Given the description of an element on the screen output the (x, y) to click on. 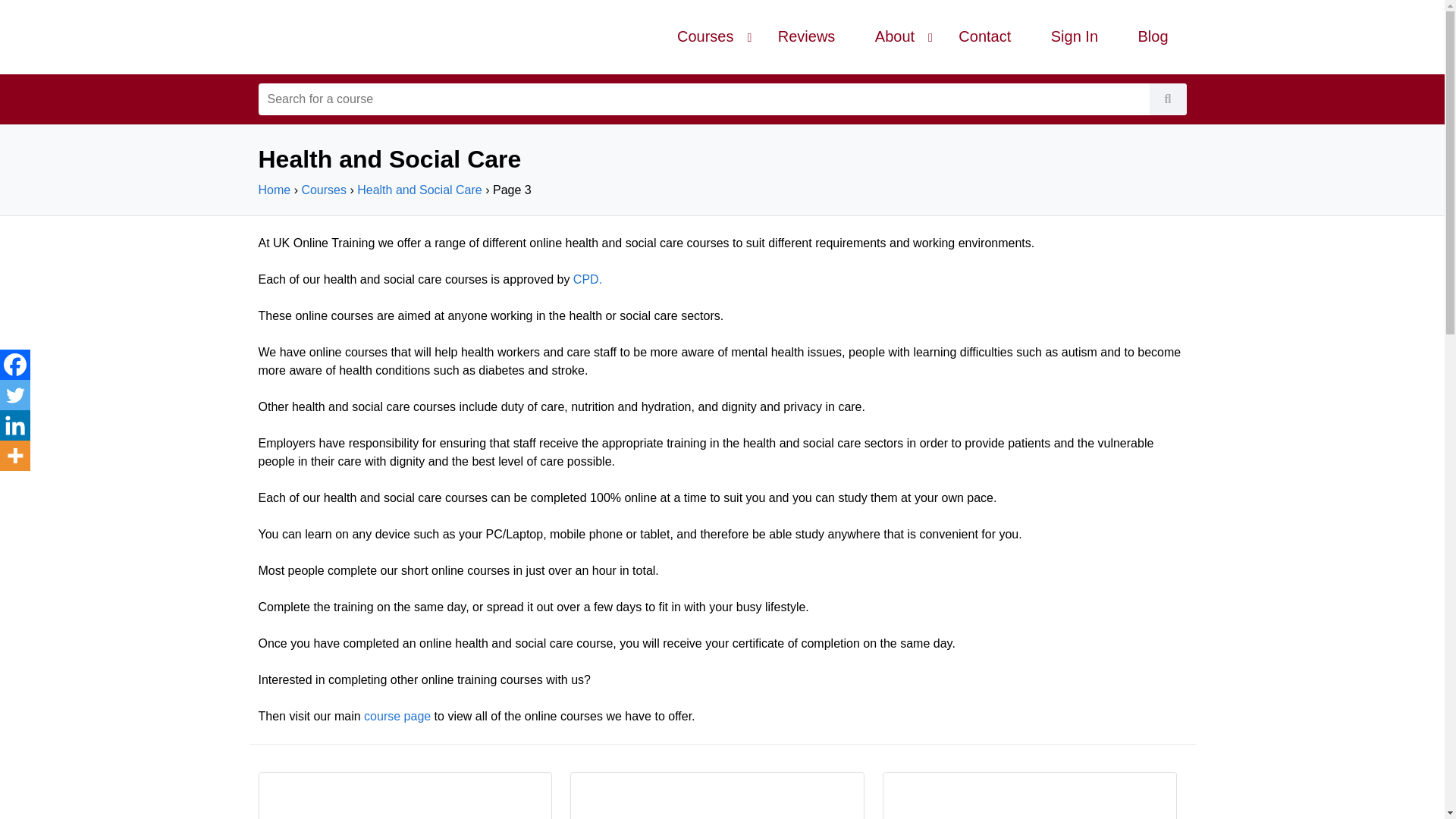
CPD. (587, 278)
Reviews (806, 36)
Contact (984, 36)
Blog (1152, 36)
Linkedin (15, 425)
Courses (323, 189)
Facebook (15, 364)
Home (273, 189)
Courses (705, 36)
course page (397, 716)
